Given the description of an element on the screen output the (x, y) to click on. 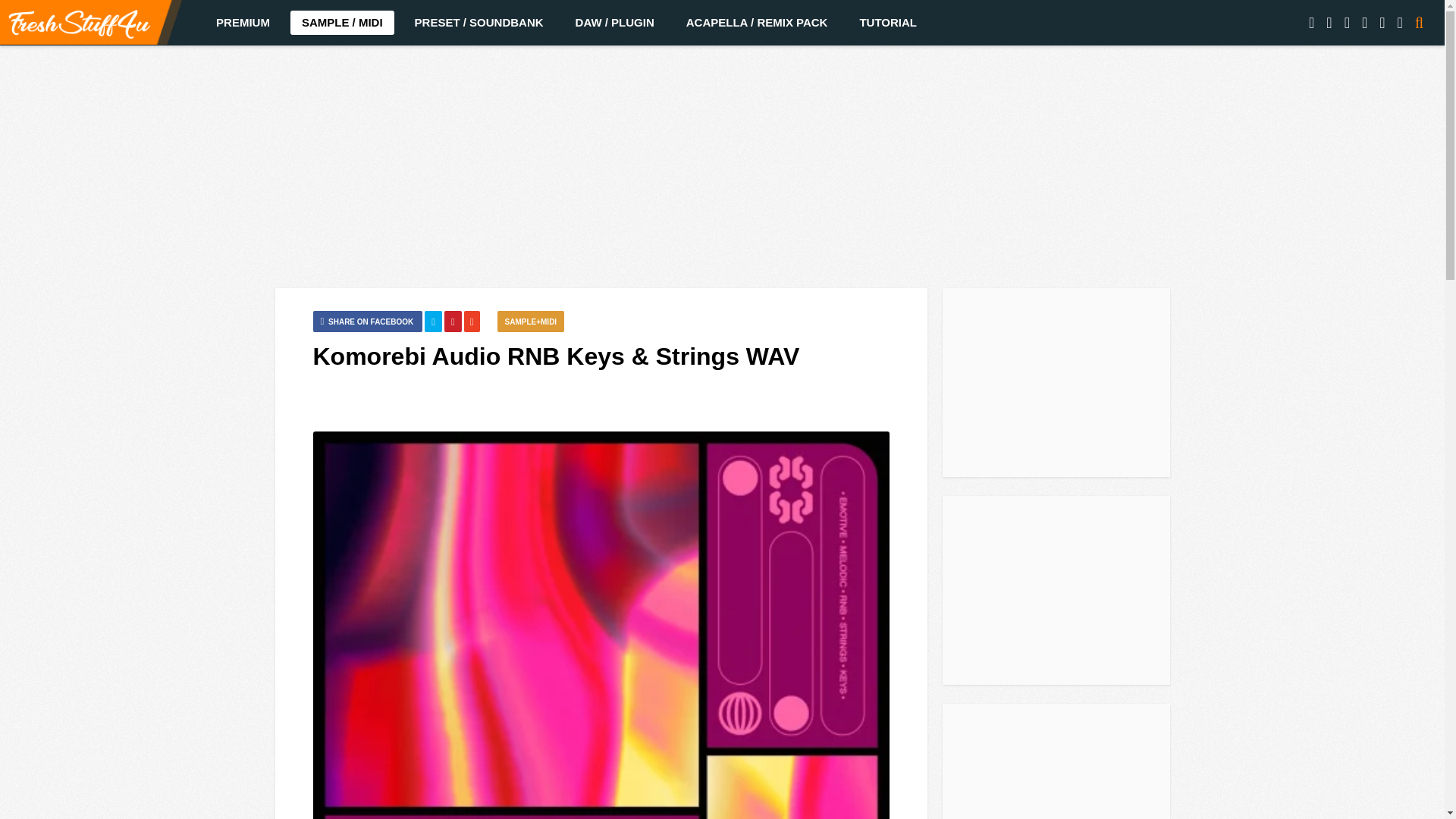
TUTORIAL (887, 22)
PREMIUM (243, 22)
Search (1410, 60)
SHARE ON FACEBOOK (367, 321)
